Given the description of an element on the screen output the (x, y) to click on. 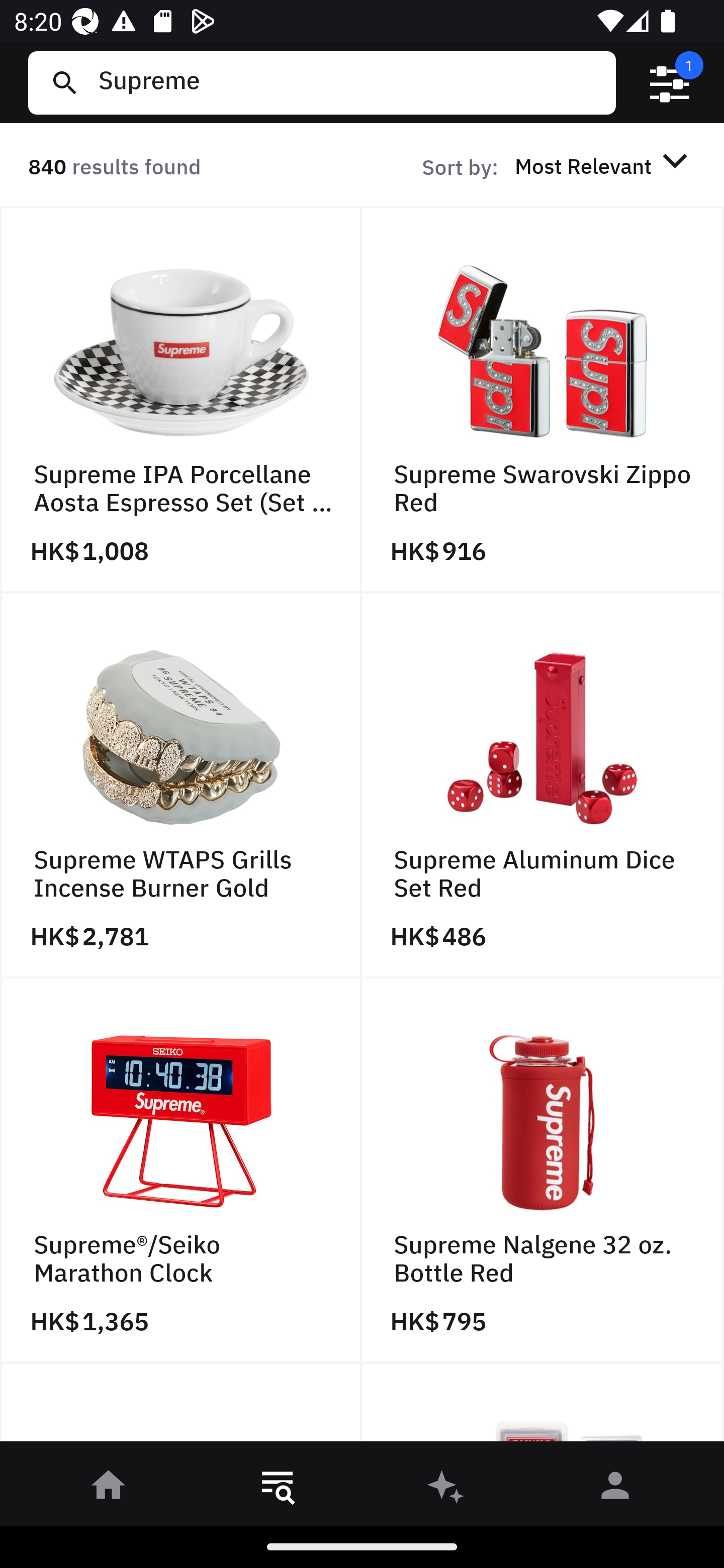
Supreme (349, 82)
 (669, 82)
Most Relevant  (604, 165)
Supreme Swarovski Zippo Red HK$ 916 (543, 399)
Supreme WTAPS Grills Incense Burner Gold HK$ 2,781 (181, 785)
Supreme Aluminum Dice Set Red HK$ 486 (543, 785)
Supreme®/Seiko Marathon Clock HK$ 1,365 (181, 1171)
Supreme Nalgene 32 oz. Bottle Red HK$ 795 (543, 1171)
󰋜 (108, 1488)
󱎸 (277, 1488)
󰫢 (446, 1488)
󰀄 (615, 1488)
